Given the description of an element on the screen output the (x, y) to click on. 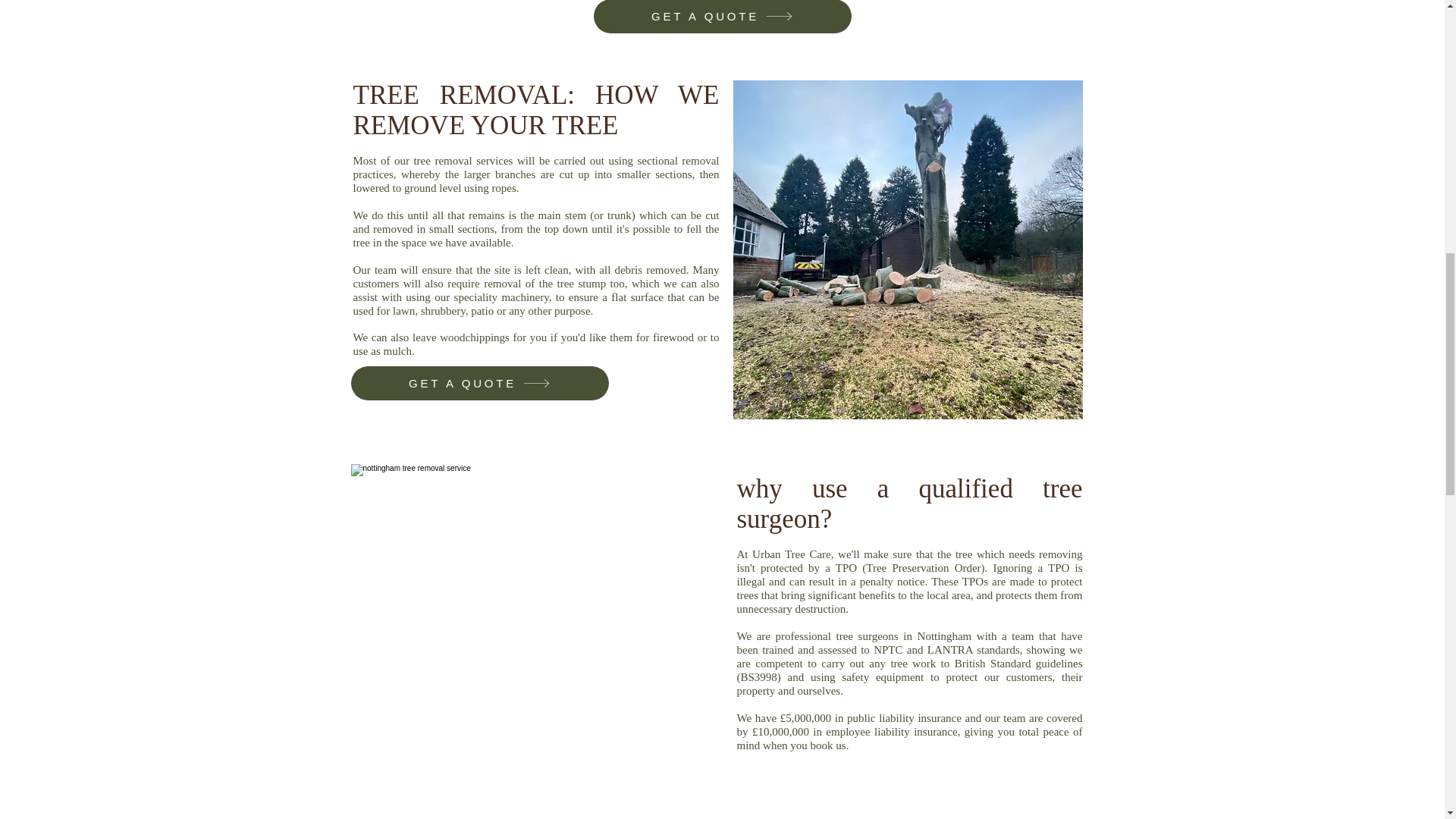
removal of the tree stump (544, 283)
GET A QUOTE (721, 16)
GET A QUOTE (479, 383)
